Given the description of an element on the screen output the (x, y) to click on. 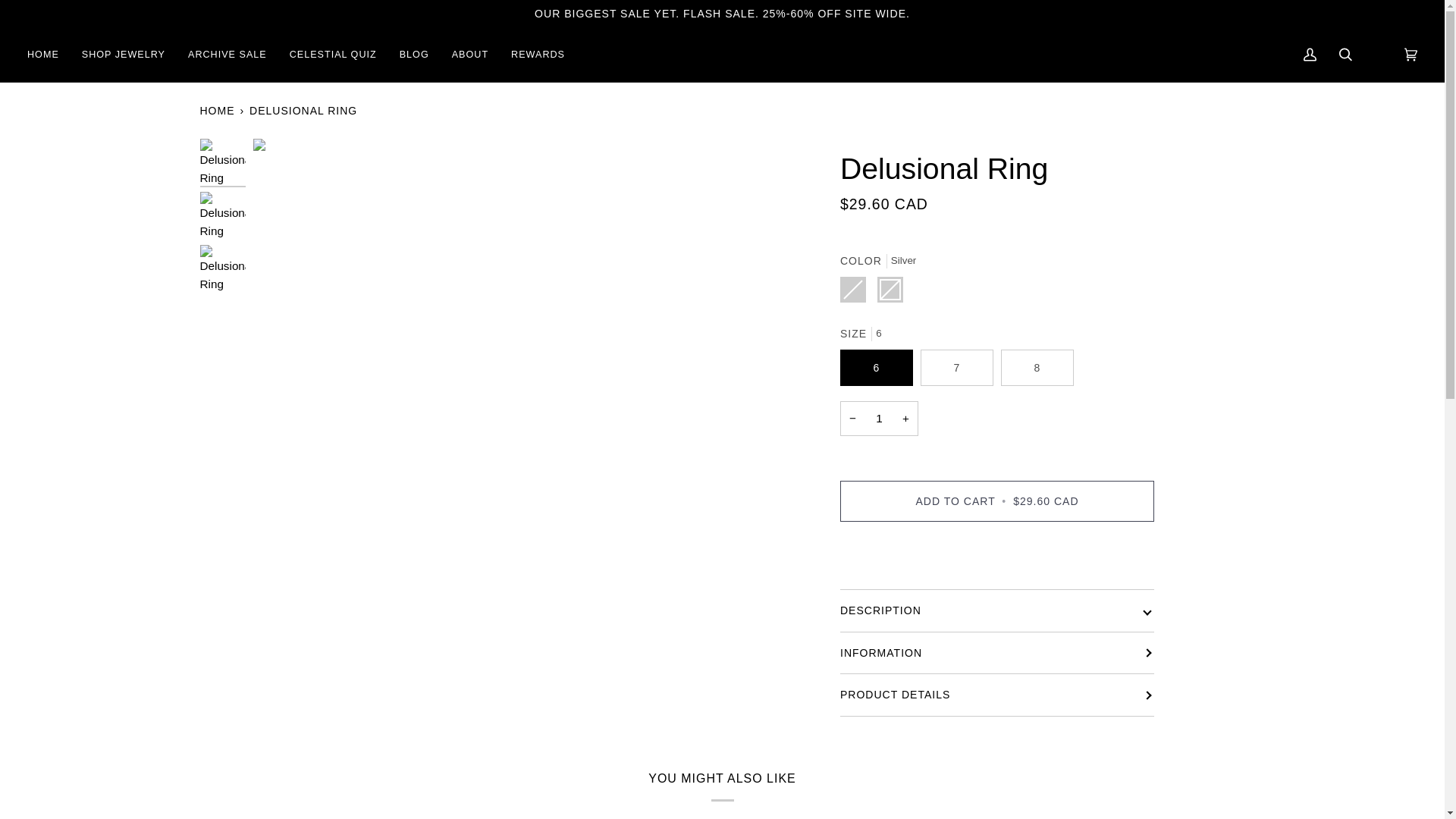
HOME (217, 109)
ABOUT (470, 54)
1 (879, 418)
CELESTIAL QUIZ (333, 54)
ARCHIVE SALE (227, 54)
Back to the frontpage (217, 109)
BLOG (414, 54)
REWARDS (537, 54)
SHOP JEWELRY (122, 54)
